Given the description of an element on the screen output the (x, y) to click on. 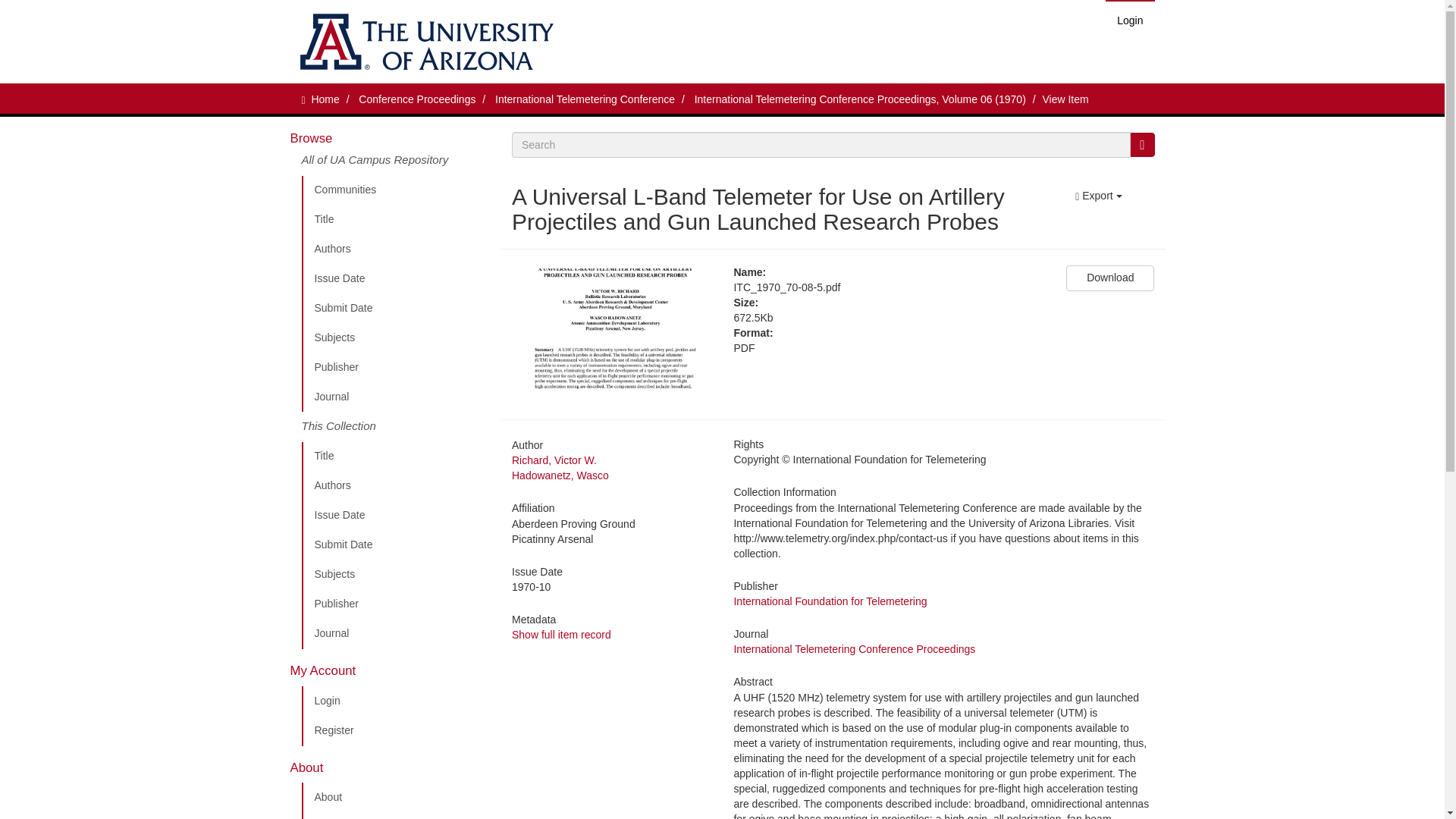
All of UA Campus Repository (395, 164)
Subjects (395, 337)
Journal (395, 397)
Issue Date (395, 278)
International Telemetering Conference (585, 99)
Publisher (395, 603)
Title (395, 456)
Register (395, 730)
Issue Date (395, 515)
This Collection (395, 426)
Login (1129, 19)
Login (395, 701)
Title (395, 219)
Conference Proceedings (417, 99)
Authors (395, 249)
